Given the description of an element on the screen output the (x, y) to click on. 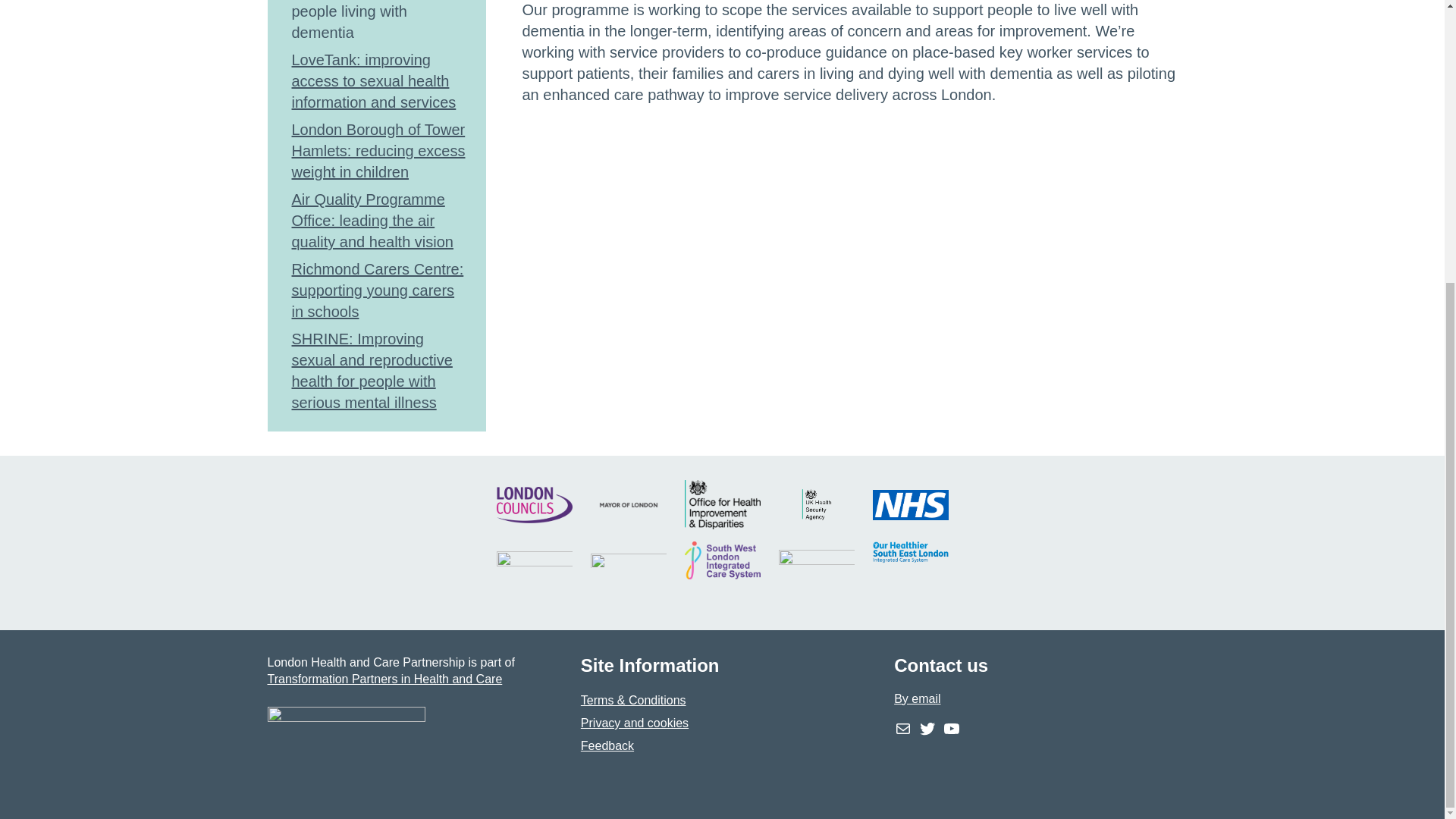
Twitter (927, 728)
Mail (902, 728)
Feedback (606, 745)
Transformation Partners in Health and Care (384, 678)
Richmond Carers Centre: supporting young carers in schools (377, 290)
Privacy and cookies (634, 722)
YouTube (951, 728)
